Given the description of an element on the screen output the (x, y) to click on. 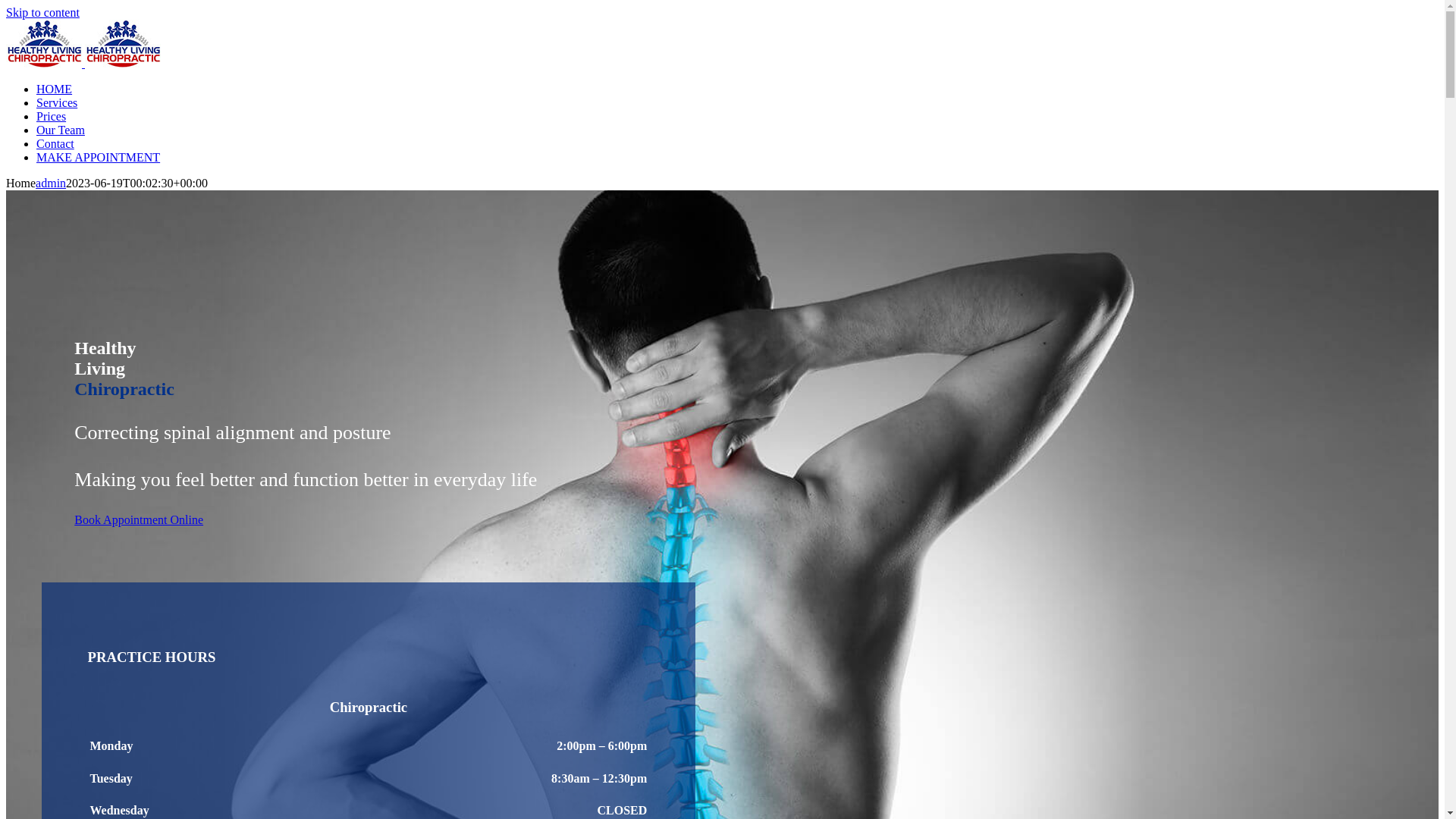
Contact Element type: text (55, 143)
Book Appointment Online Element type: text (138, 519)
Our Team Element type: text (60, 129)
Skip to content Element type: text (42, 12)
MAKE APPOINTMENT Element type: text (98, 156)
HOME Element type: text (54, 88)
Services Element type: text (56, 102)
admin Element type: text (50, 182)
Prices Element type: text (50, 115)
